Given the description of an element on the screen output the (x, y) to click on. 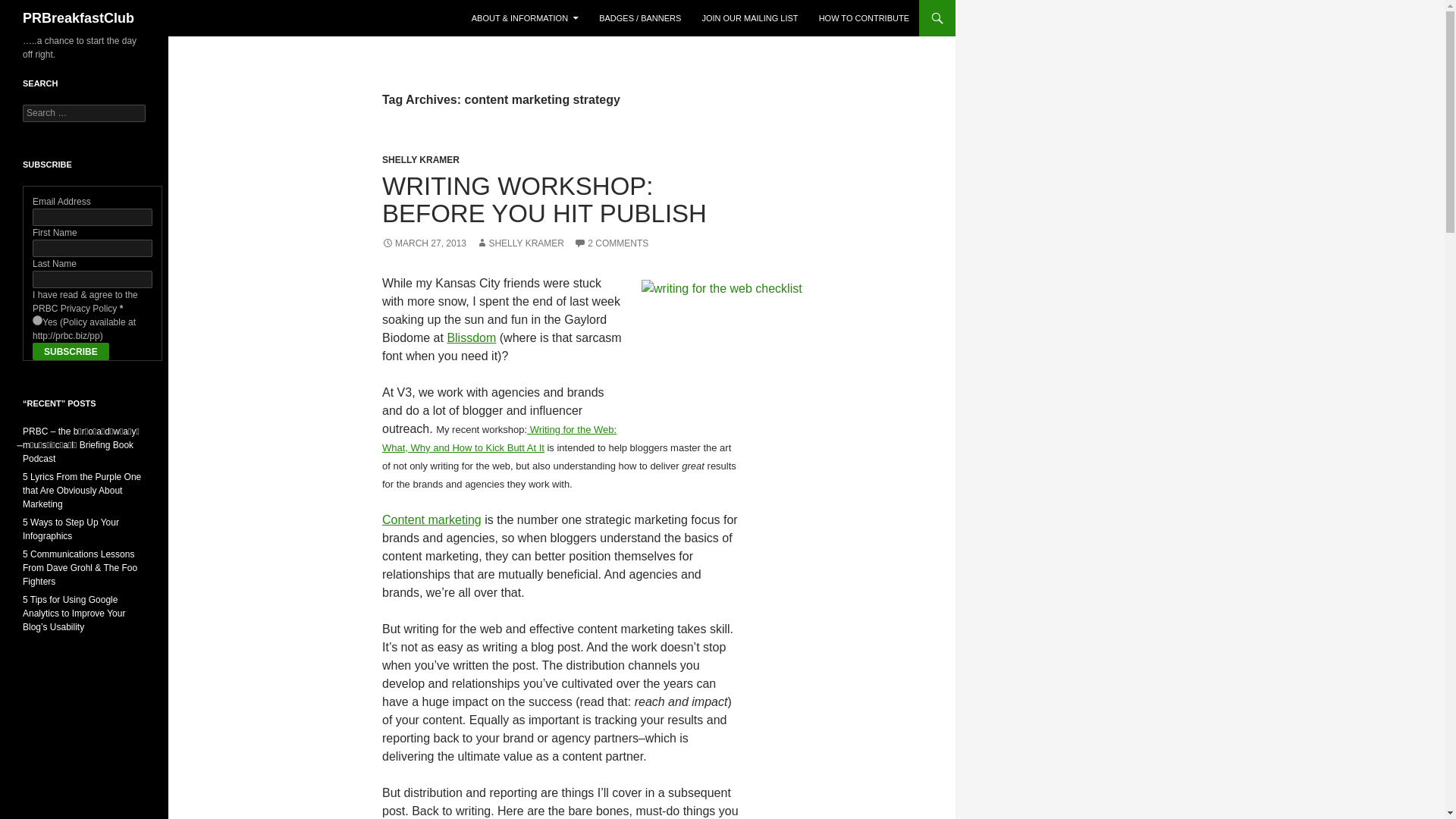
SHELLY KRAMER (420, 159)
JOIN OUR MAILING LIST (749, 18)
ToDoList (755, 355)
PRBreakfastClub (78, 17)
Writing for the Web: What, Why and How to Kick Butt At It (498, 438)
Blissdom (471, 337)
2 COMMENTS (610, 243)
Subscribe (70, 351)
Content marketing (431, 519)
MARCH 27, 2013 (423, 243)
